Given the description of an element on the screen output the (x, y) to click on. 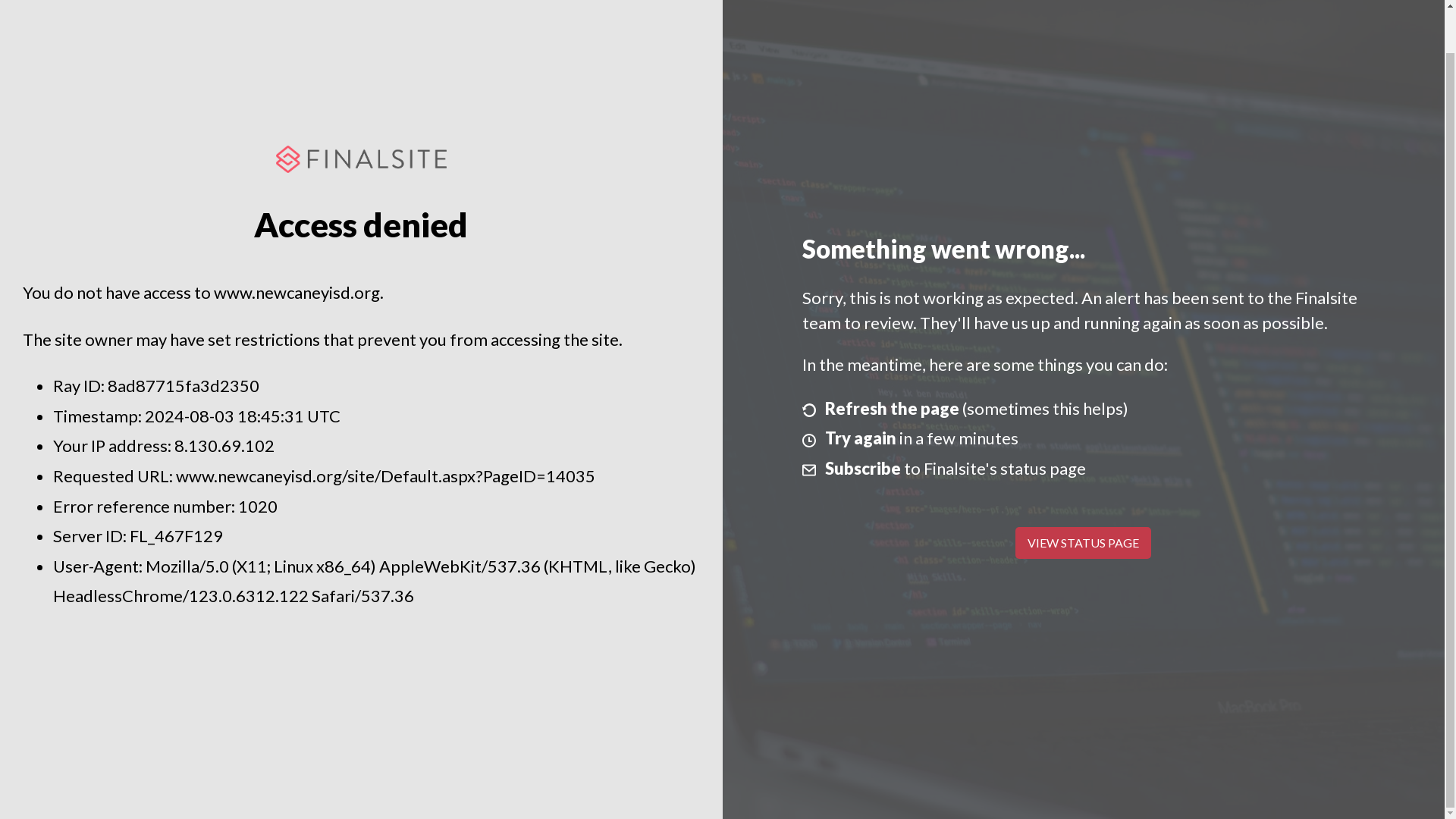
VIEW STATUS PAGE (1082, 542)
